Given the description of an element on the screen output the (x, y) to click on. 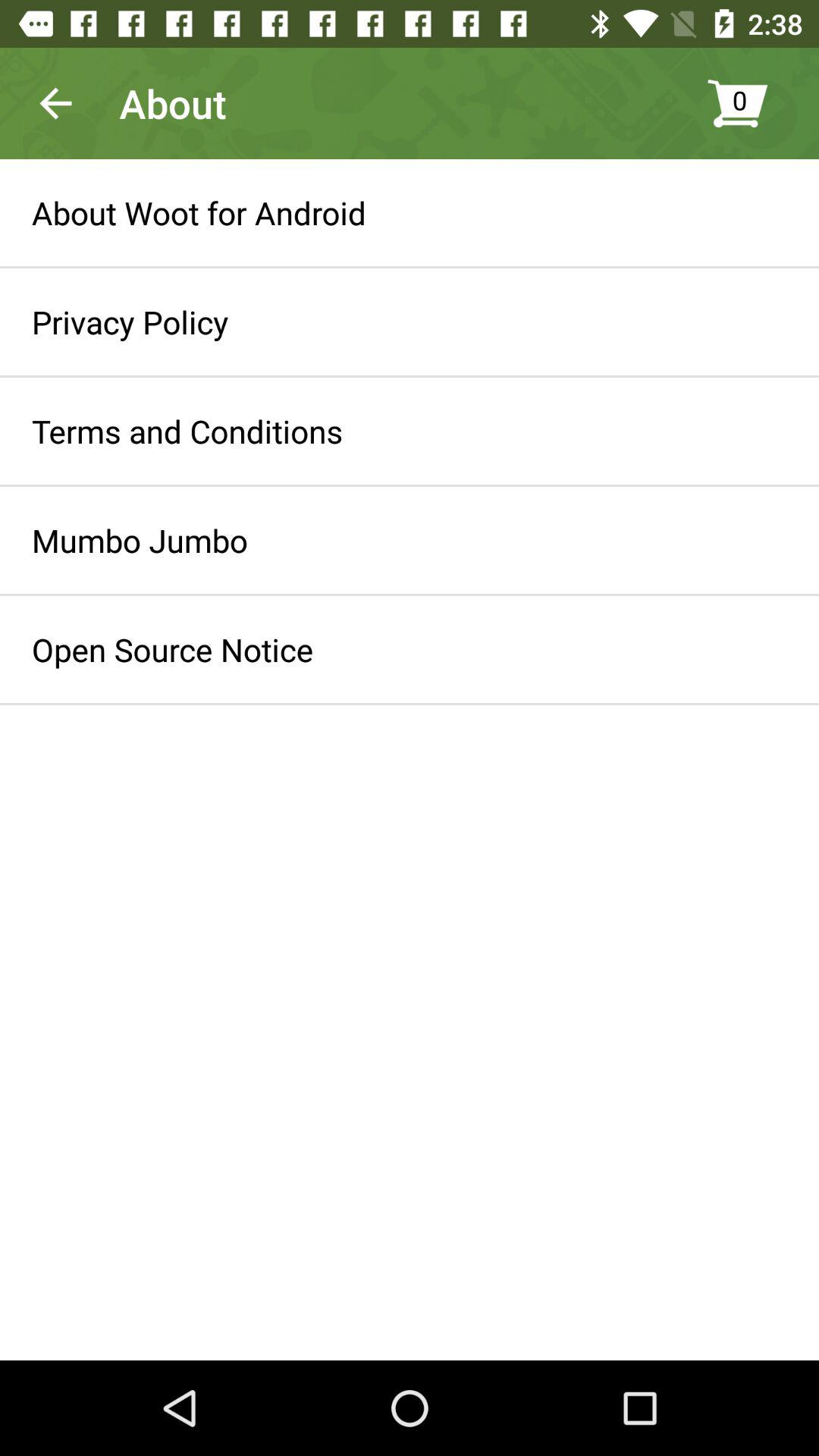
flip until privacy policy (129, 321)
